Given the description of an element on the screen output the (x, y) to click on. 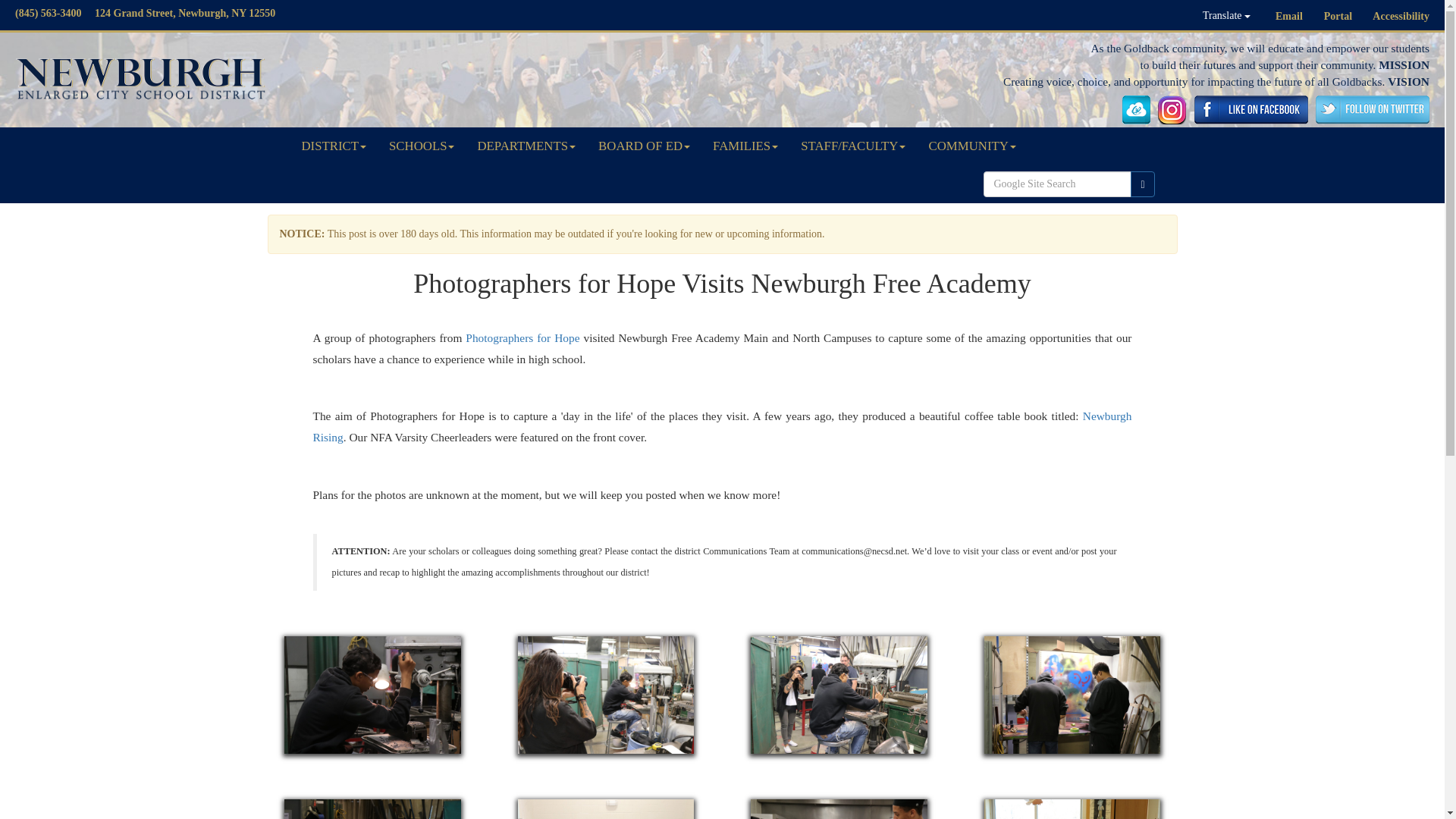
SCHOOLS (421, 146)
DISTRICT (333, 146)
Email (1289, 16)
Translate (1226, 15)
Accessibility (1401, 16)
Portal (1337, 16)
